Given the description of an element on the screen output the (x, y) to click on. 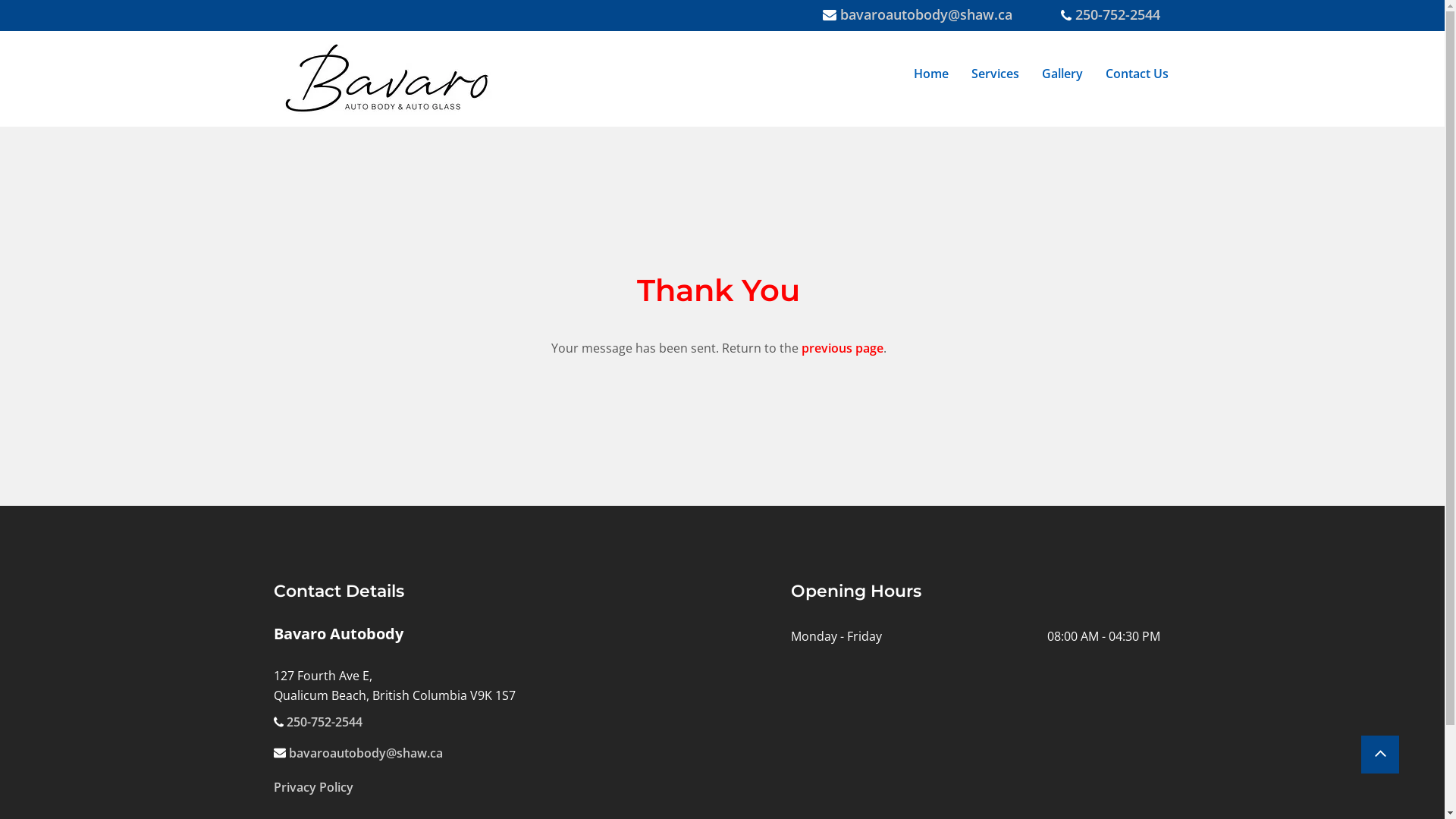
Privacy Policy Element type: text (312, 787)
bavaroautobody@shaw.ca Element type: text (926, 16)
Services Element type: text (995, 78)
250-752-2544 Element type: text (324, 721)
Gallery Element type: text (1061, 78)
250-752-2544 Element type: text (1117, 16)
Home Element type: text (930, 78)
bavaroautobody@shaw.ca Element type: text (365, 752)
Contact Us Element type: text (1136, 78)
previous page Element type: text (841, 348)
